Given the description of an element on the screen output the (x, y) to click on. 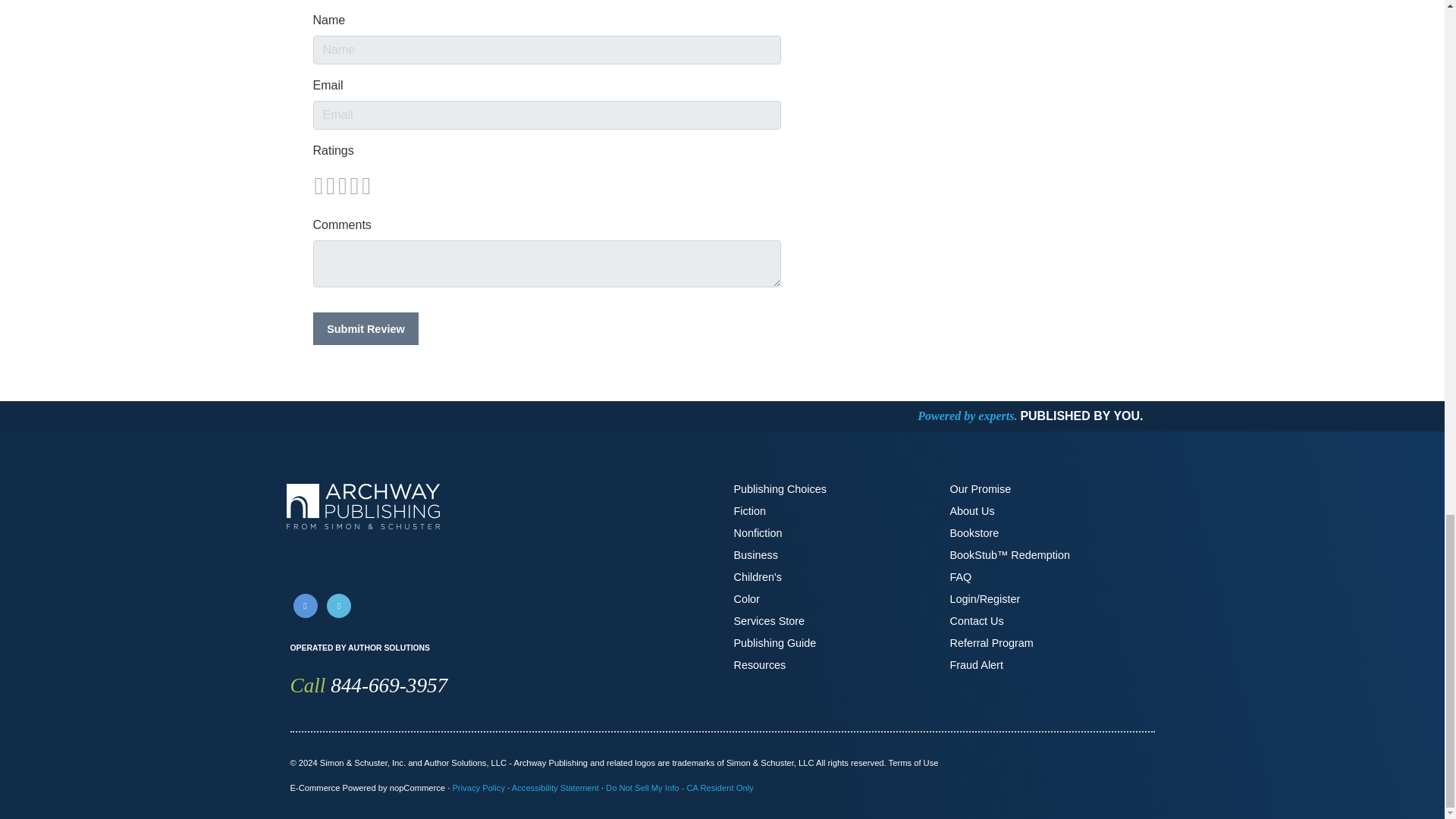
Submit Review (366, 328)
About Us (971, 510)
Publishing Guide (774, 643)
Submit Review (366, 328)
Color (746, 598)
Fiction (749, 510)
Bookstore (973, 532)
Children's (758, 576)
Services Store (769, 621)
Business (755, 554)
Resources (759, 664)
Publishing Choices (780, 489)
Not Rated (342, 185)
Nonfiction (758, 532)
Our Promise (979, 489)
